Given the description of an element on the screen output the (x, y) to click on. 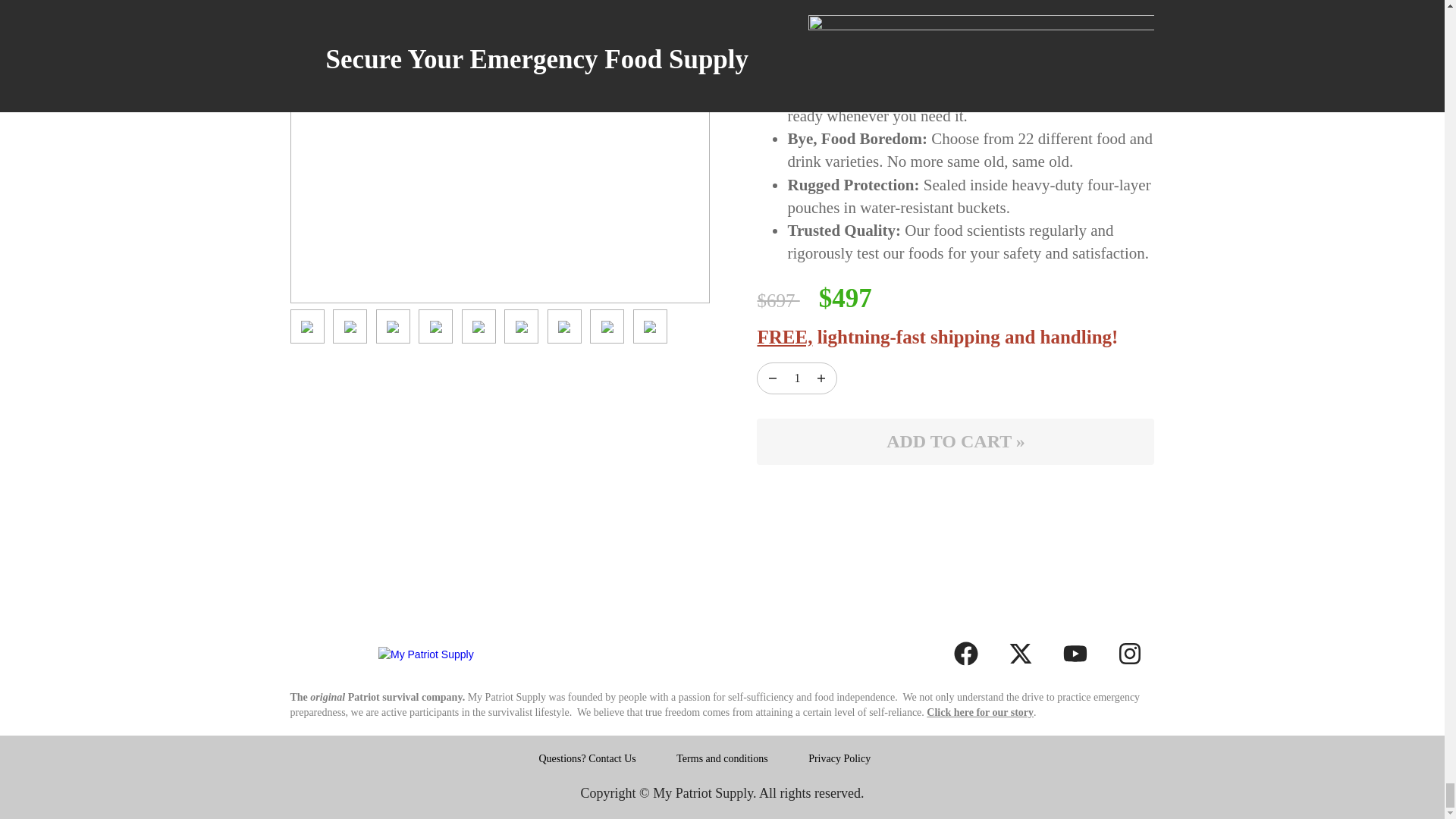
Quantity (820, 378)
Quantity (796, 378)
Go to the next slide (690, 92)
1 (796, 378)
Go to the previous slide (310, 92)
Quantity (772, 378)
